Given the description of an element on the screen output the (x, y) to click on. 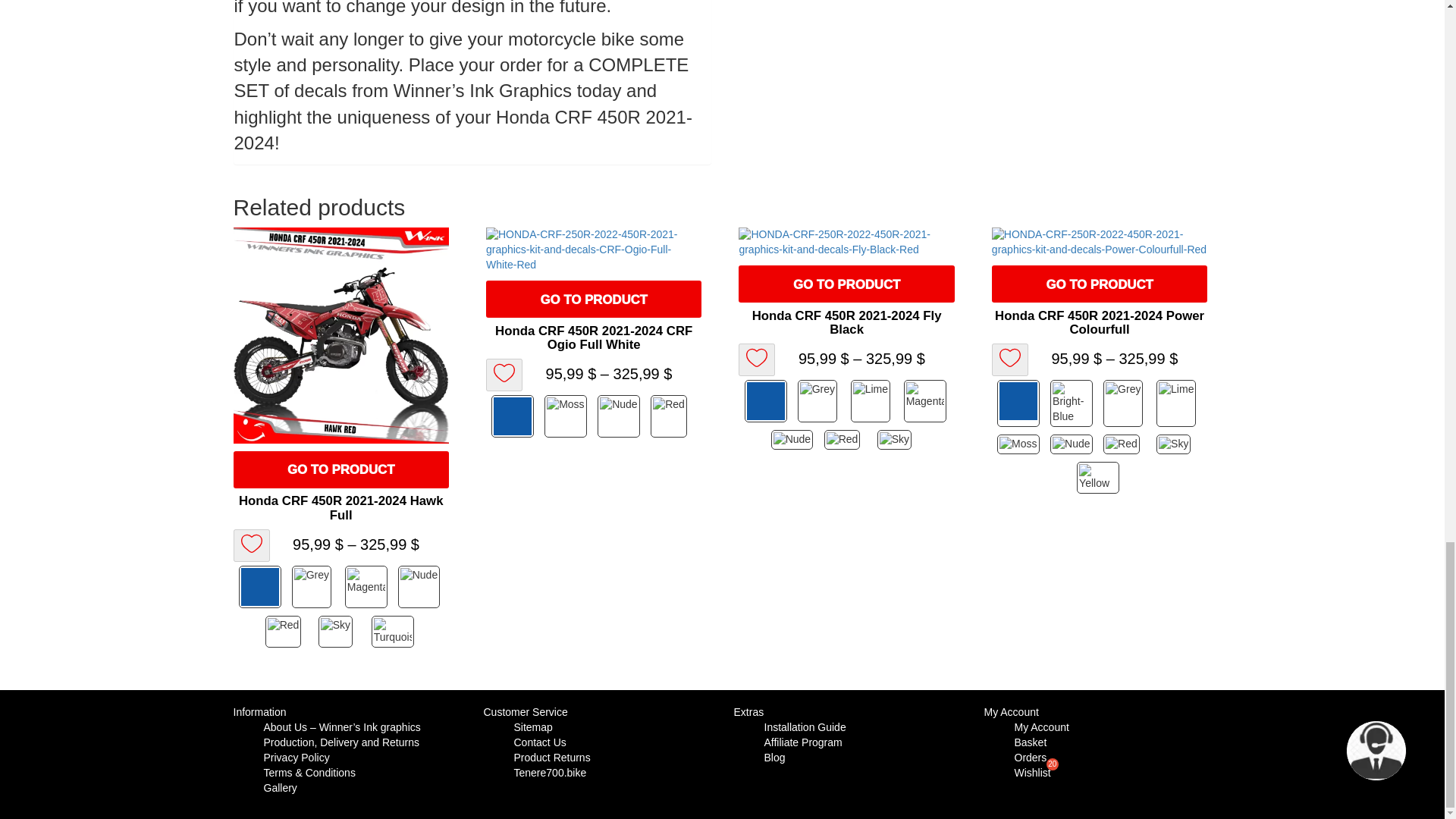
Blue (514, 415)
Sky (341, 631)
Turquoise (393, 631)
Moss (566, 415)
GO TO PRODUCT (340, 469)
Magenta (367, 586)
Nude (619, 415)
Red (287, 631)
Grey (820, 401)
GO TO PRODUCT (845, 283)
Blue (260, 586)
Grey (314, 586)
GO TO PRODUCT (1099, 283)
Nude (420, 586)
GO TO PRODUCT (593, 298)
